Given the description of an element on the screen output the (x, y) to click on. 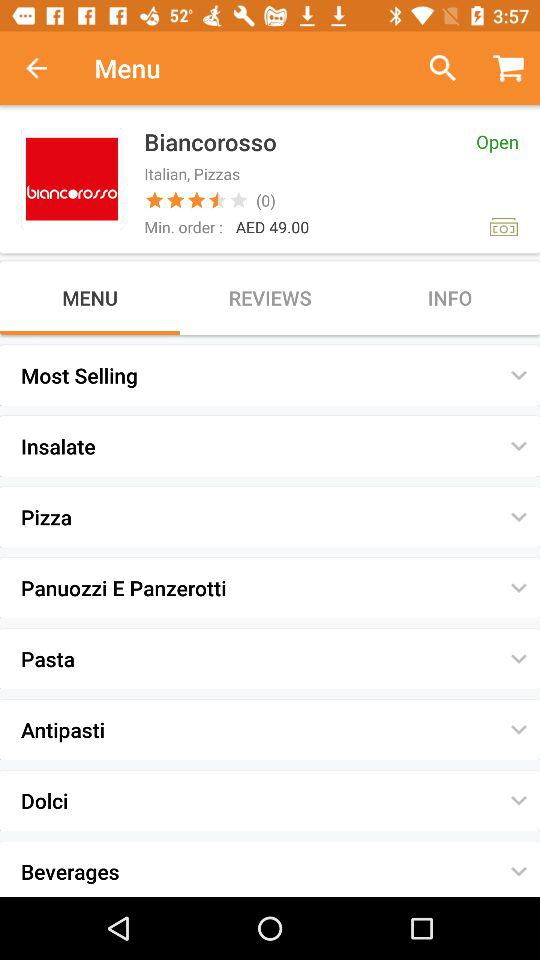
return to the previous screen (47, 68)
